Given the description of an element on the screen output the (x, y) to click on. 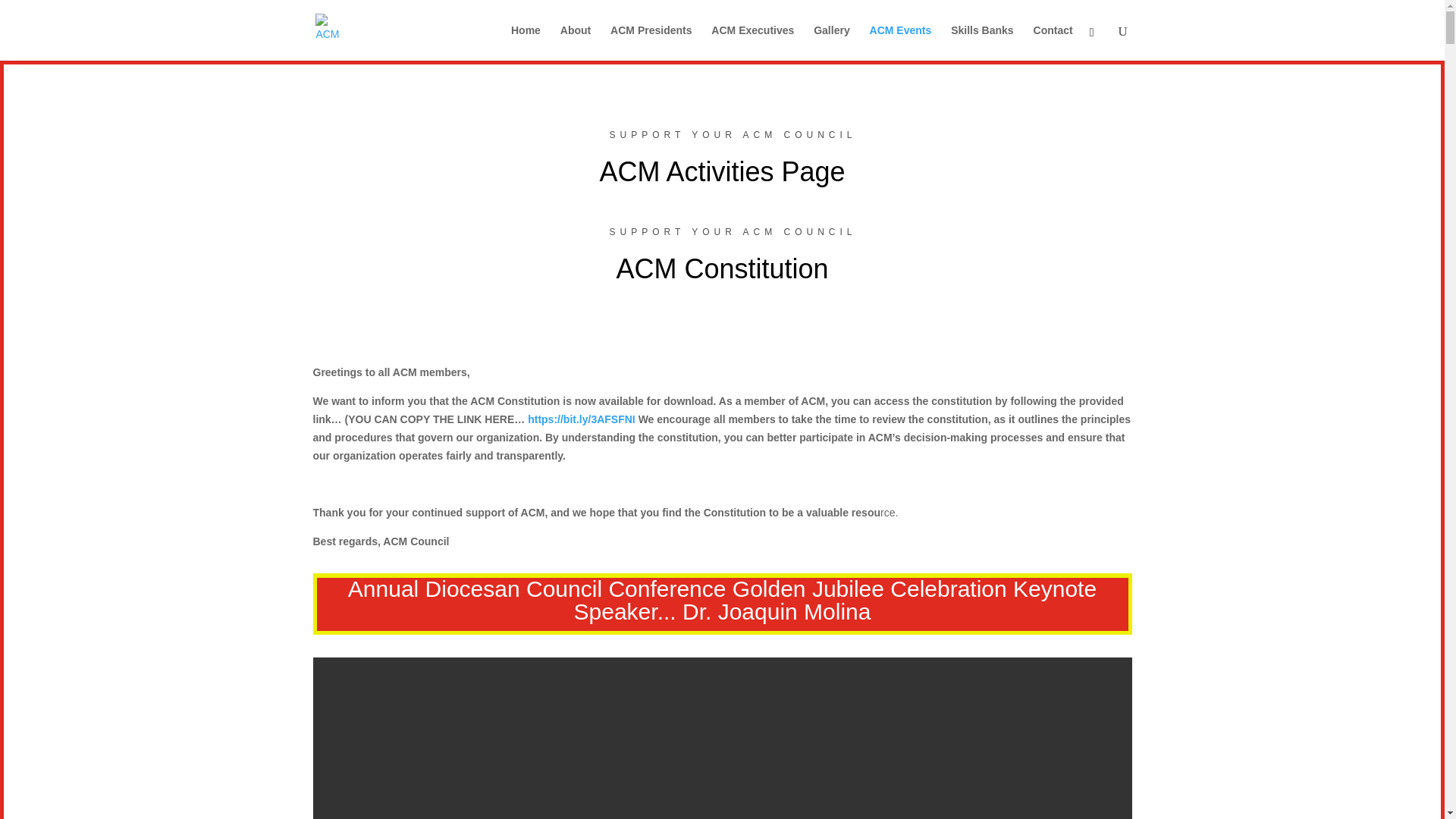
Gallery (830, 42)
ACM Events (900, 42)
Contact (1053, 42)
ACM Presidents (650, 42)
Skills Banks (981, 42)
ACM Executives (752, 42)
